Given the description of an element on the screen output the (x, y) to click on. 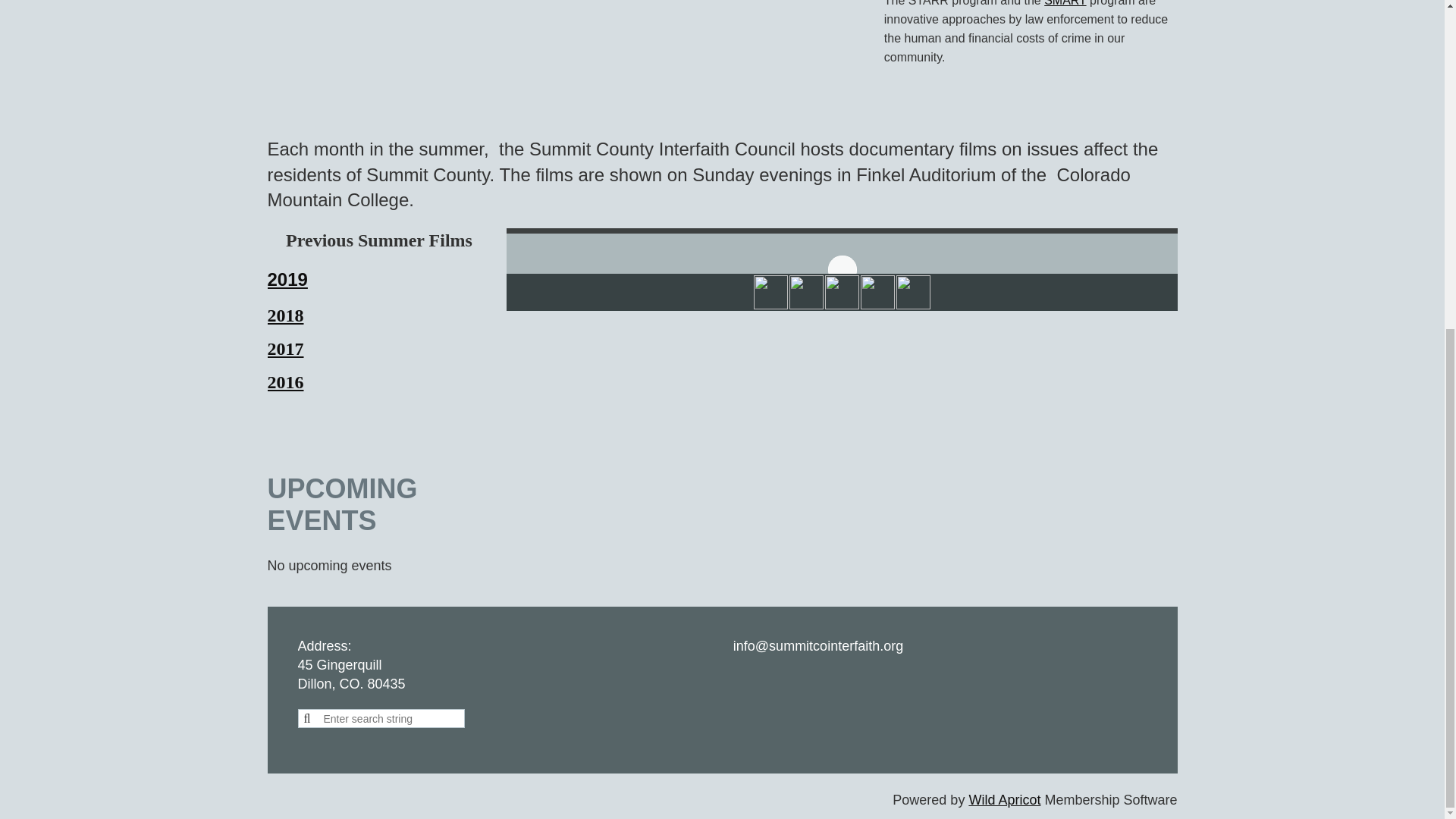
2017 (284, 348)
Wild Apricot (1004, 799)
2019 (286, 279)
2018 (284, 315)
2016 (284, 382)
SMART (1064, 3)
